Given the description of an element on the screen output the (x, y) to click on. 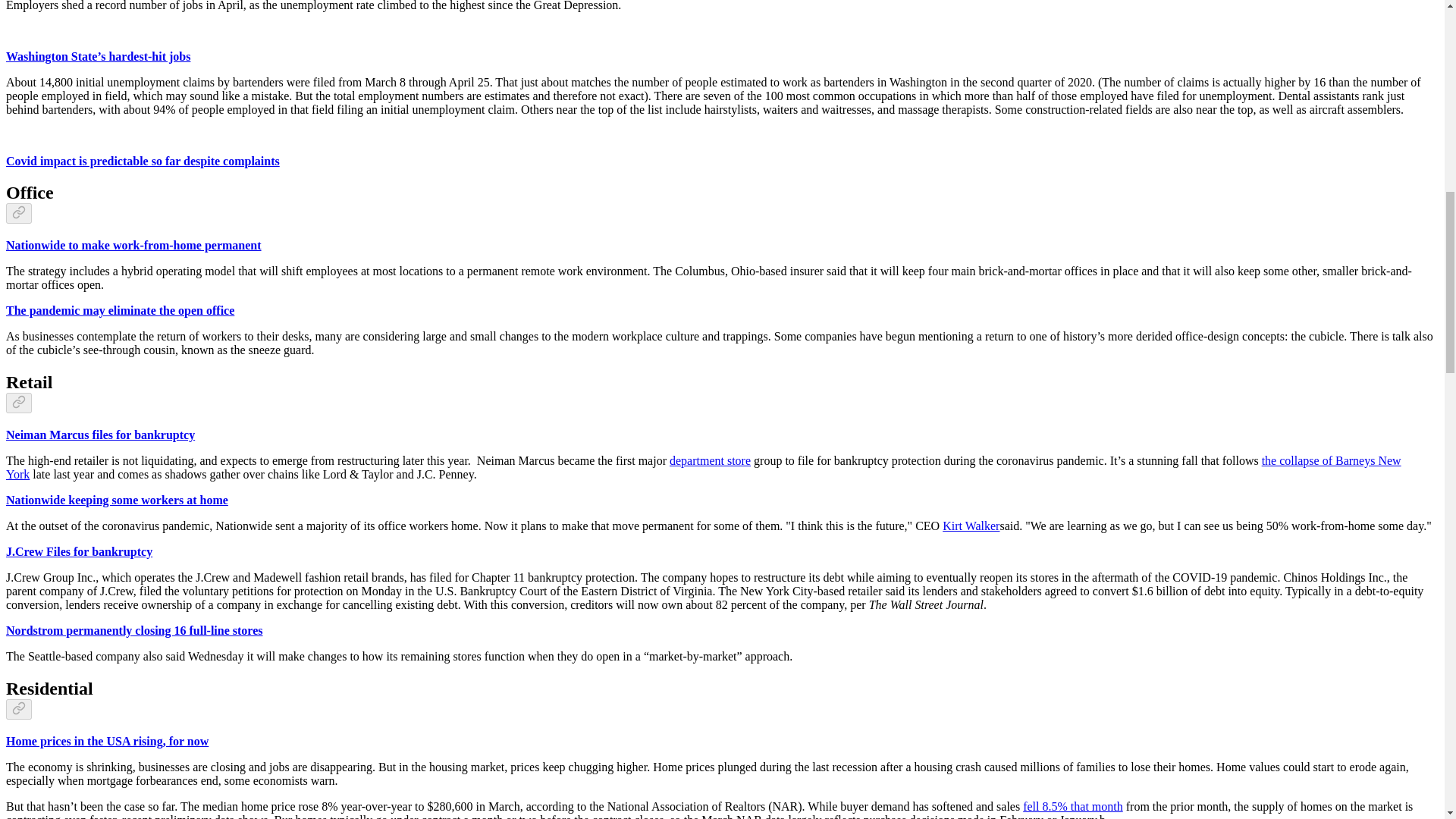
the collapse of Barneys New York (702, 467)
Covid impact is predictable so far despite complaints (142, 160)
Nationwide keeping some workers at home (116, 499)
department store (710, 460)
Neiman Marcus files for bankruptcy (100, 434)
The pandemic may eliminate the open office (119, 309)
Kirt Walker (970, 525)
Nationwide to make work-from-home permanent (133, 245)
